Given the description of an element on the screen output the (x, y) to click on. 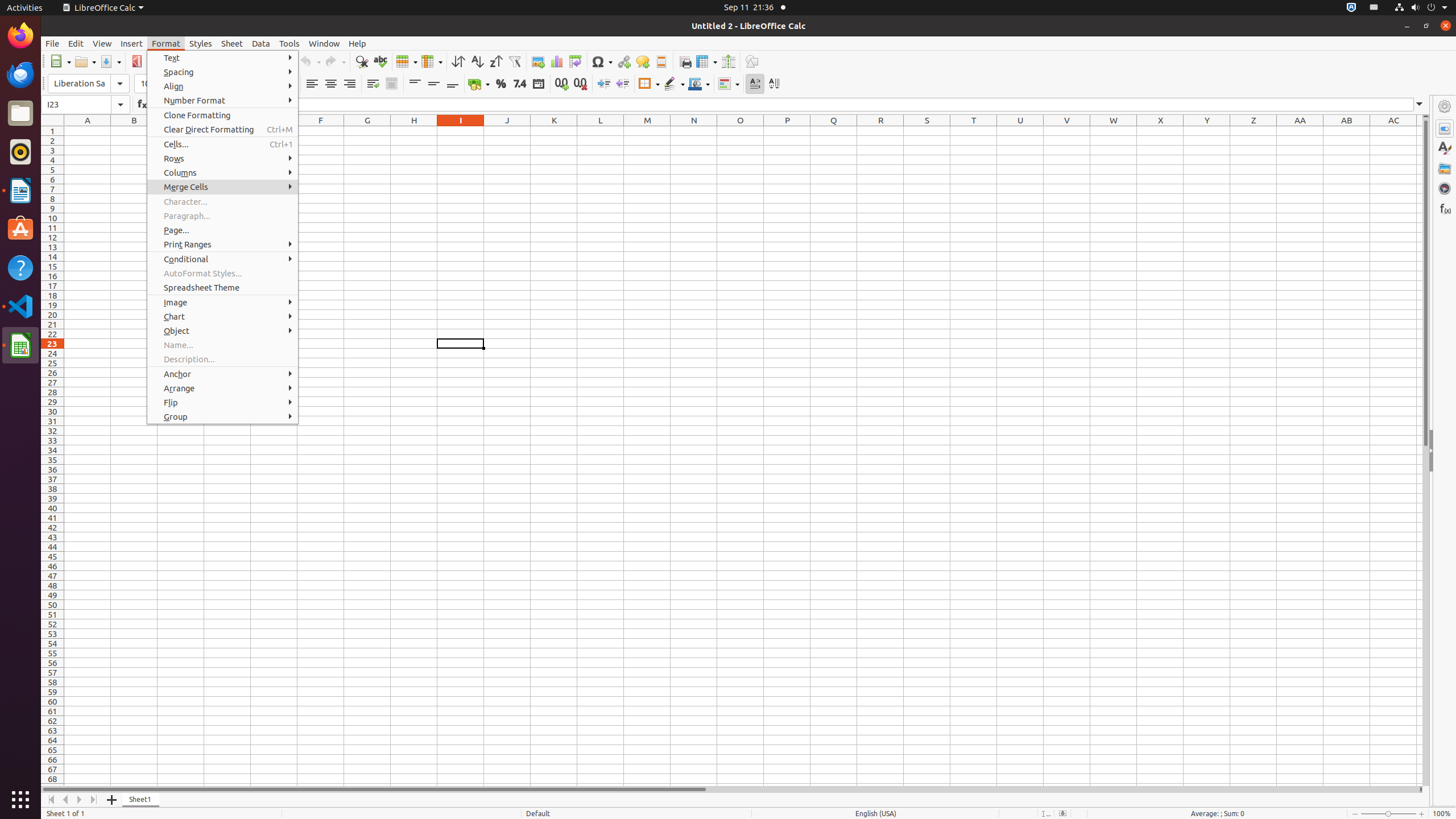
View Element type: menu (102, 43)
Align Top Element type: push-button (414, 83)
Move To End Element type: push-button (94, 799)
Wrap Text Element type: push-button (372, 83)
P1 Element type: table-cell (786, 130)
